Given the description of an element on the screen output the (x, y) to click on. 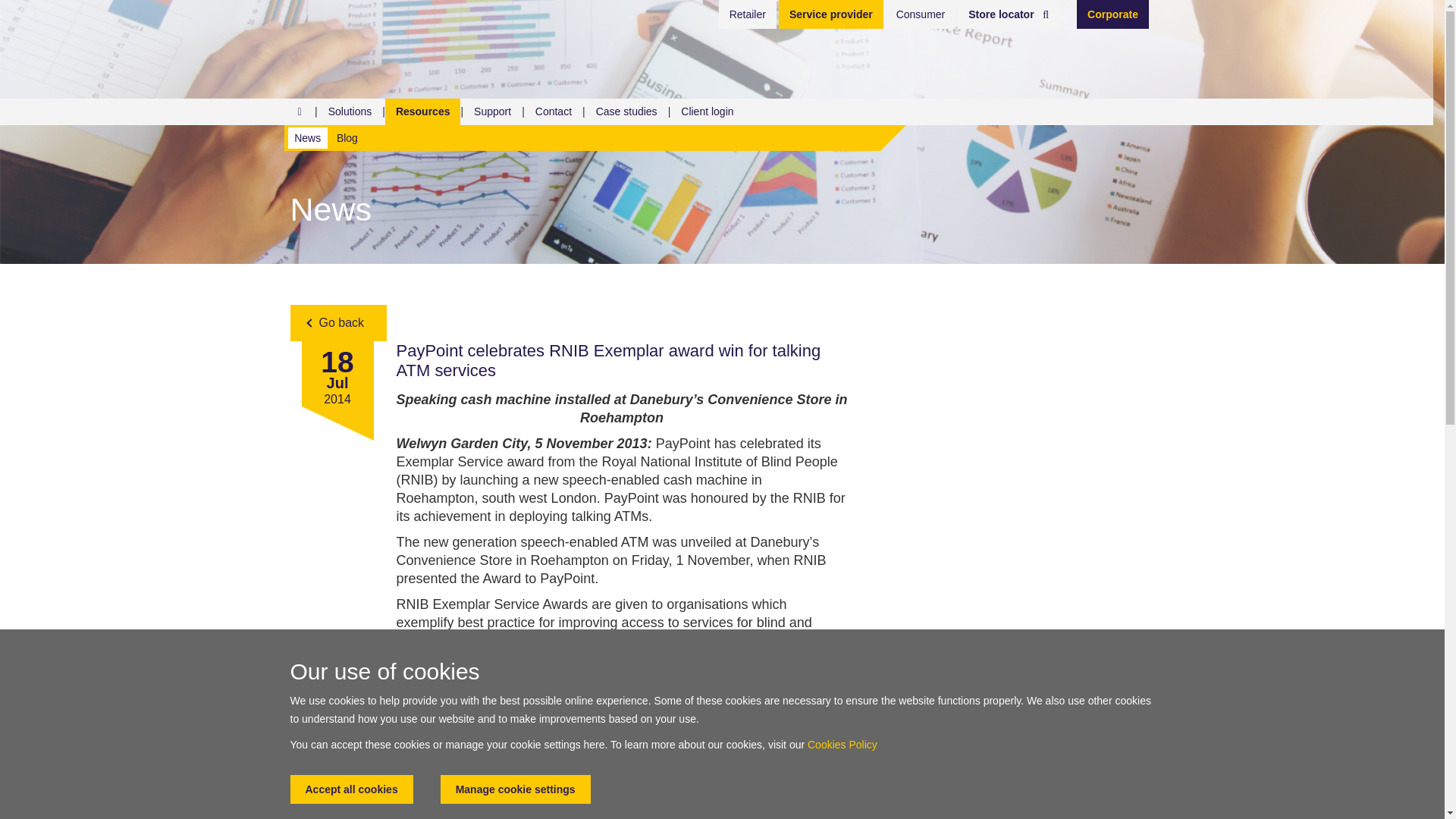
Blog (347, 137)
Service provider (830, 14)
Case studies (626, 110)
Client login (707, 110)
Store locator   (1008, 14)
News (307, 137)
Contact (553, 110)
Consumer (920, 14)
Corporate (1112, 14)
Retailer (747, 14)
